Given the description of an element on the screen output the (x, y) to click on. 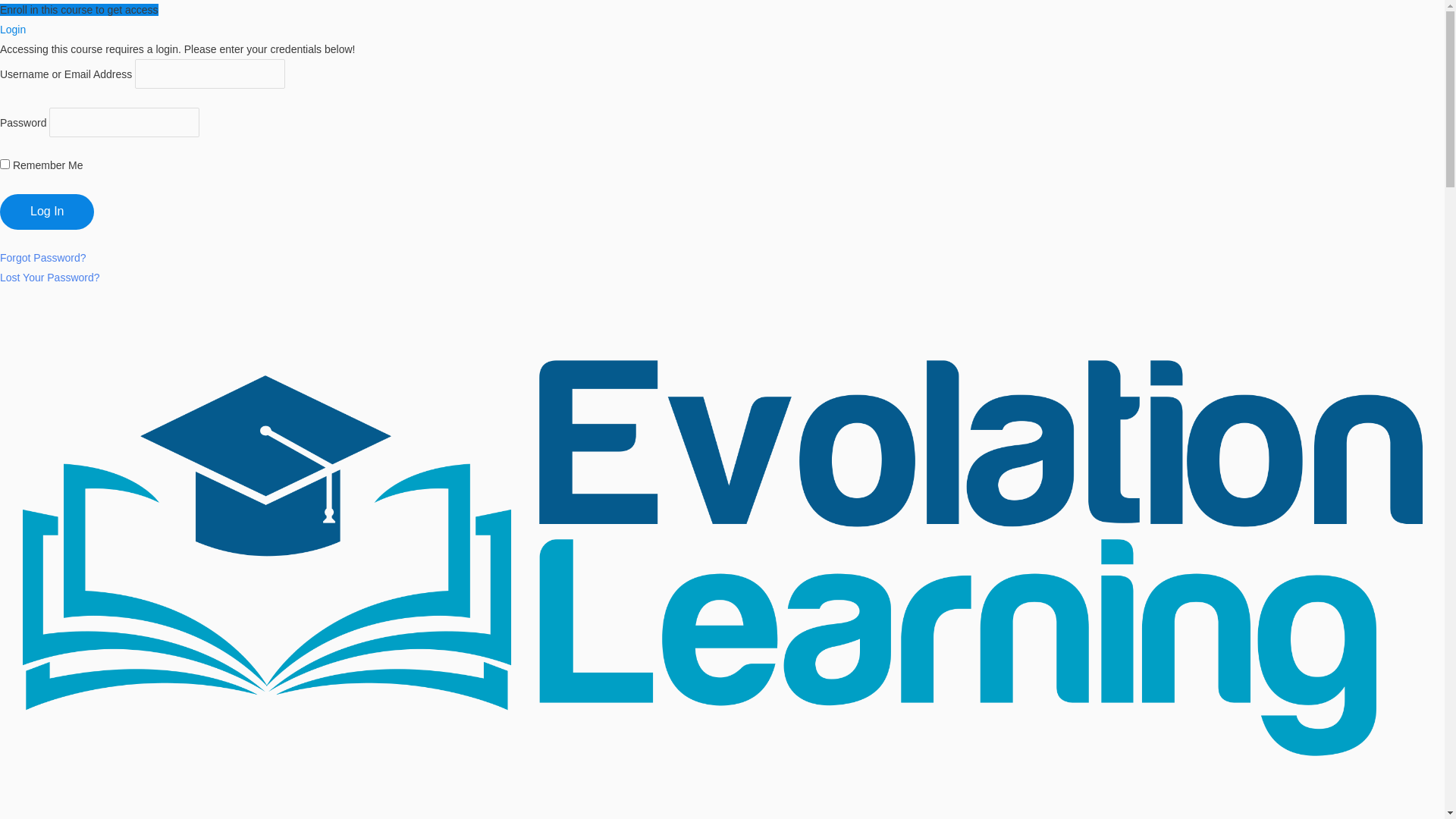
Lost Your Password? Element type: text (50, 277)
Log In Element type: text (47, 211)
Forgot Password? Element type: text (43, 257)
